Given the description of an element on the screen output the (x, y) to click on. 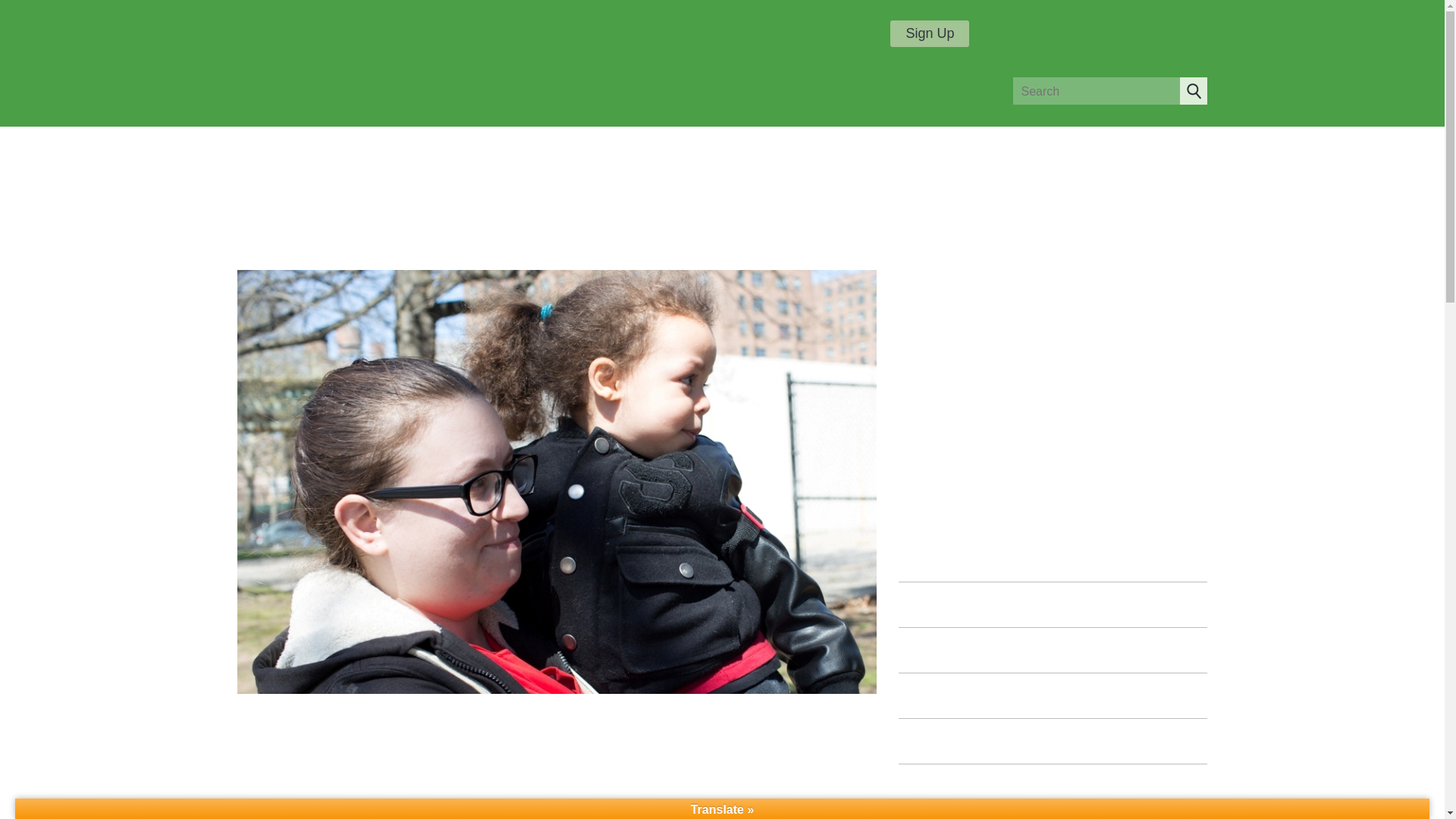
Search (1193, 90)
Search (1193, 90)
